Given the description of an element on the screen output the (x, y) to click on. 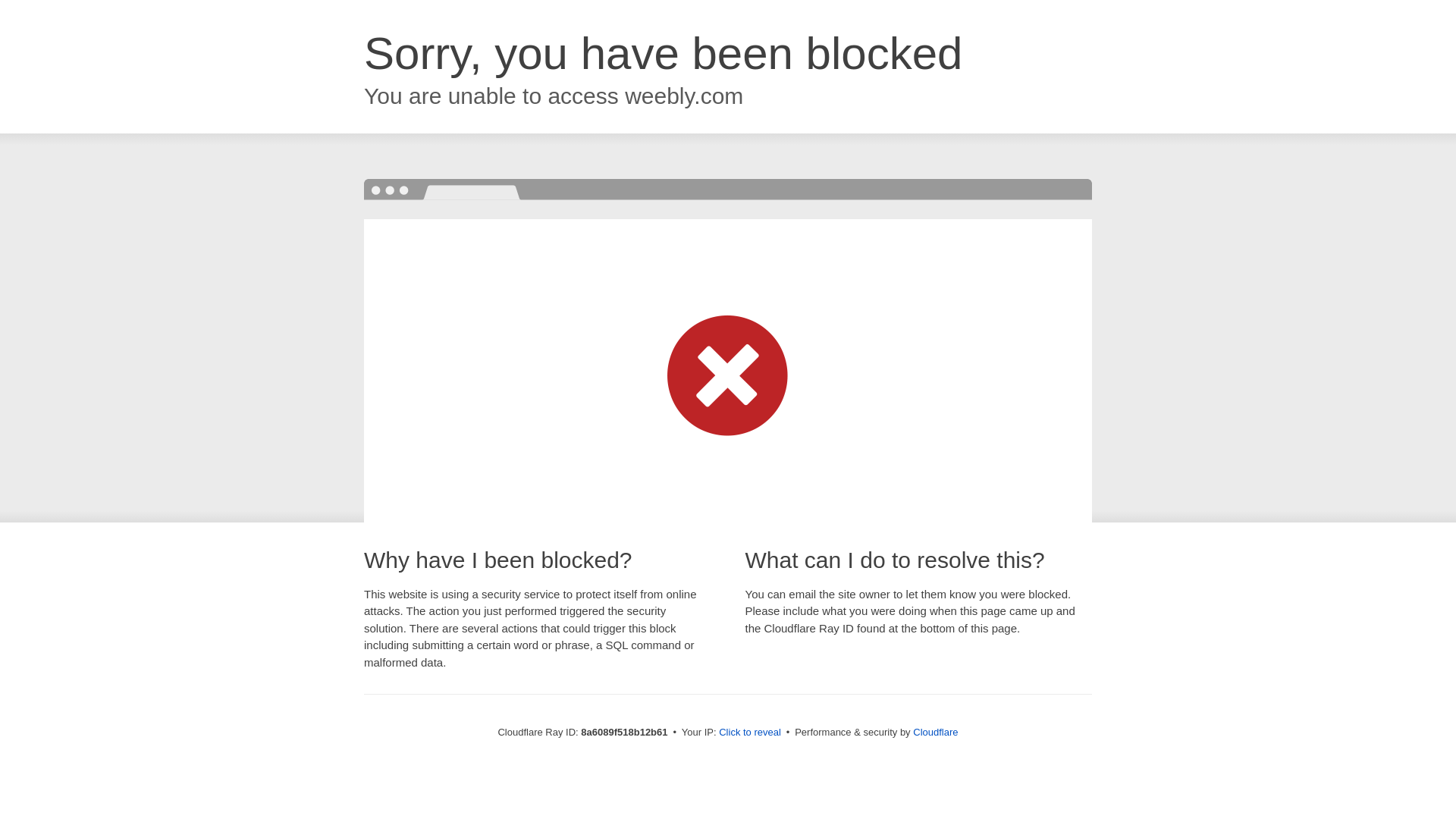
Cloudflare (935, 731)
Click to reveal (749, 732)
